Given the description of an element on the screen output the (x, y) to click on. 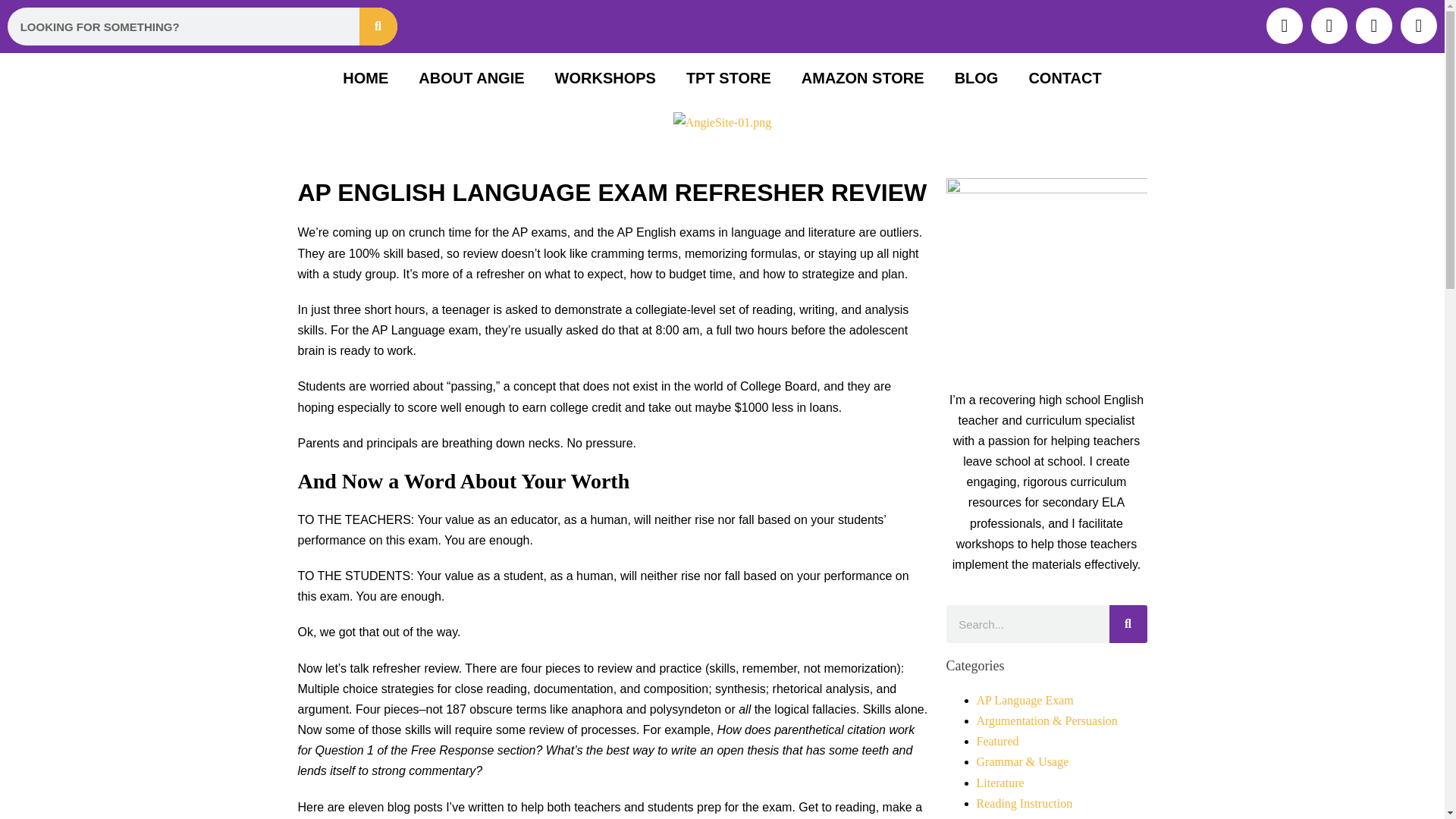
TPT STORE (728, 77)
BLOG (976, 77)
ABOUT ANGIE (470, 77)
HOME (365, 77)
Featured (997, 740)
WORKSHOPS (605, 77)
CONTACT (1064, 77)
AP Language Exam (1025, 699)
AngieSite-01.png (721, 122)
AMAZON STORE (862, 77)
